Given the description of an element on the screen output the (x, y) to click on. 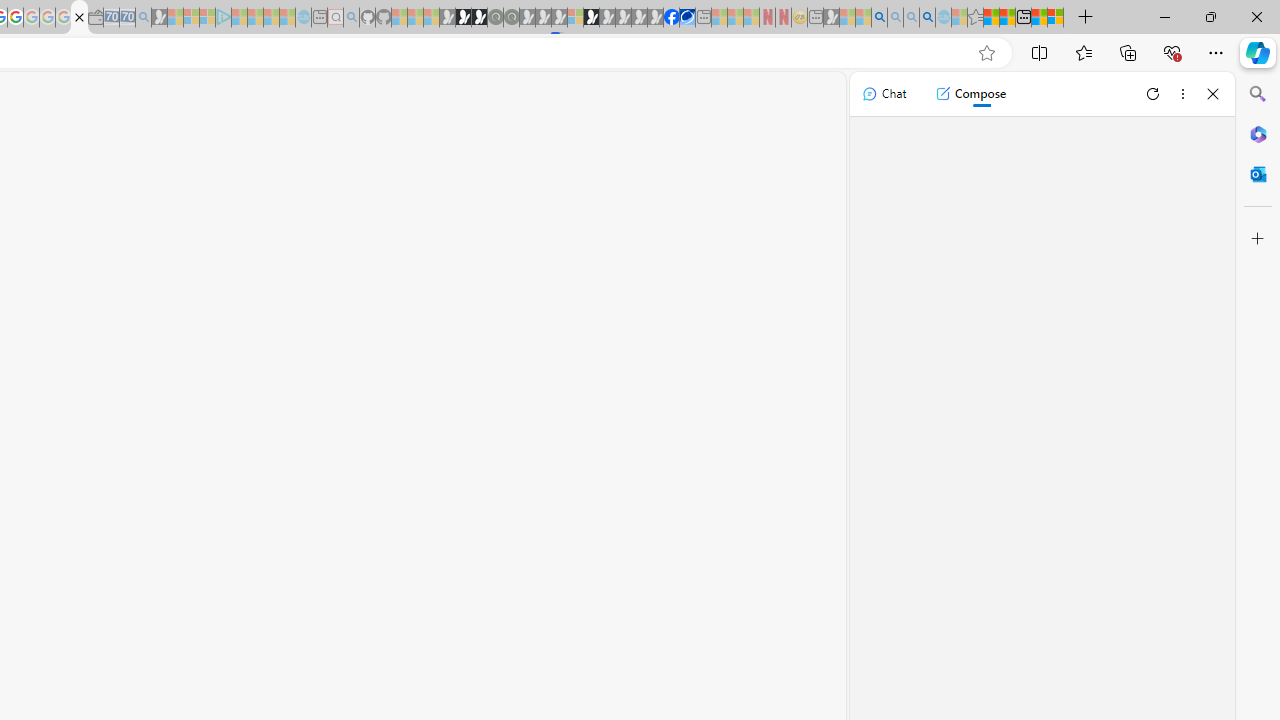
Favorites - Sleeping (975, 17)
Sign in to your account - Sleeping (575, 17)
Bing Real Estate - Home sales and rental listings - Sleeping (143, 17)
